Given the description of an element on the screen output the (x, y) to click on. 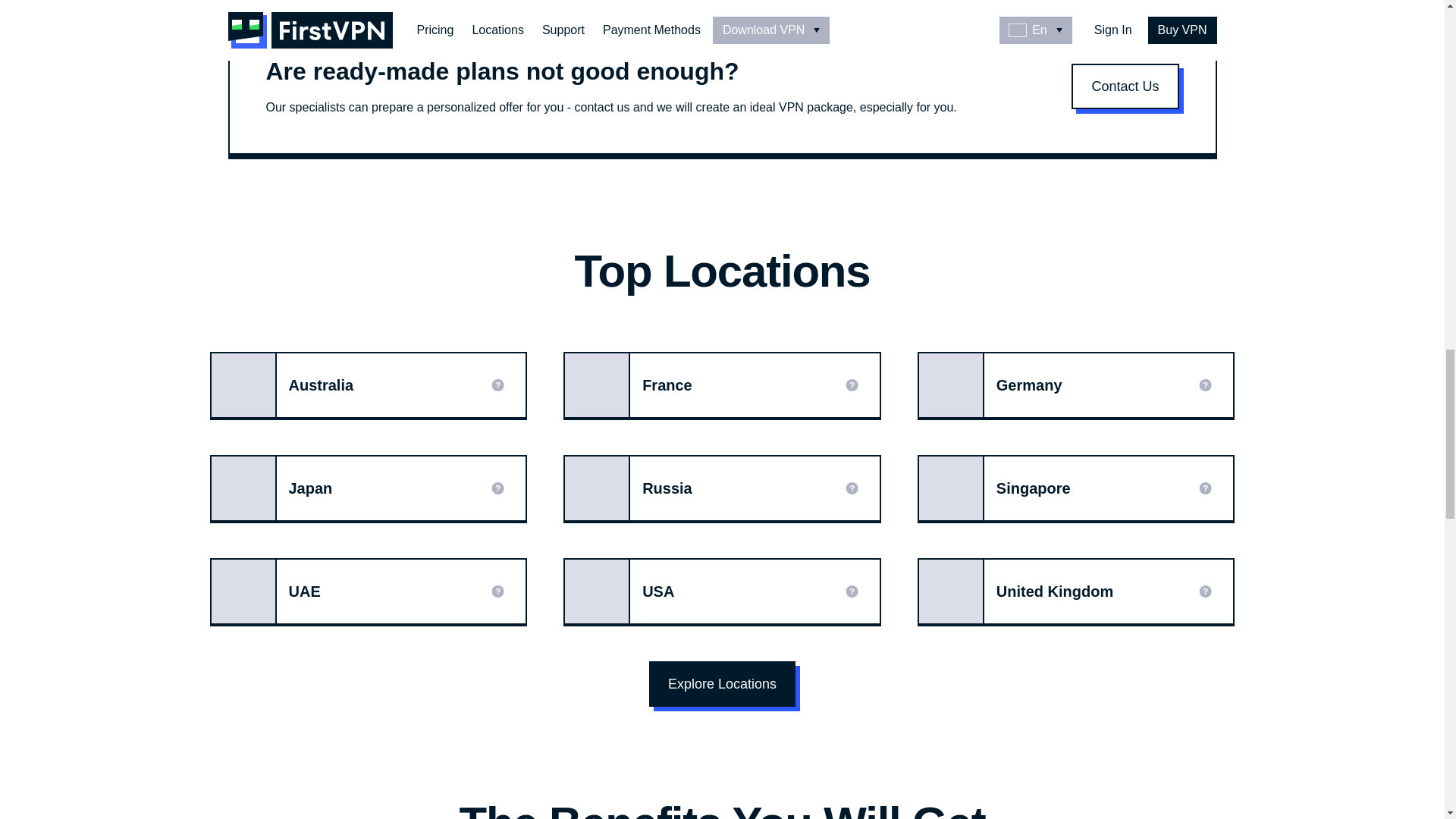
Australia (368, 385)
Contact Us (1124, 85)
Russia (721, 488)
Germany (1075, 385)
France (721, 385)
Japan (368, 488)
